Given the description of an element on the screen output the (x, y) to click on. 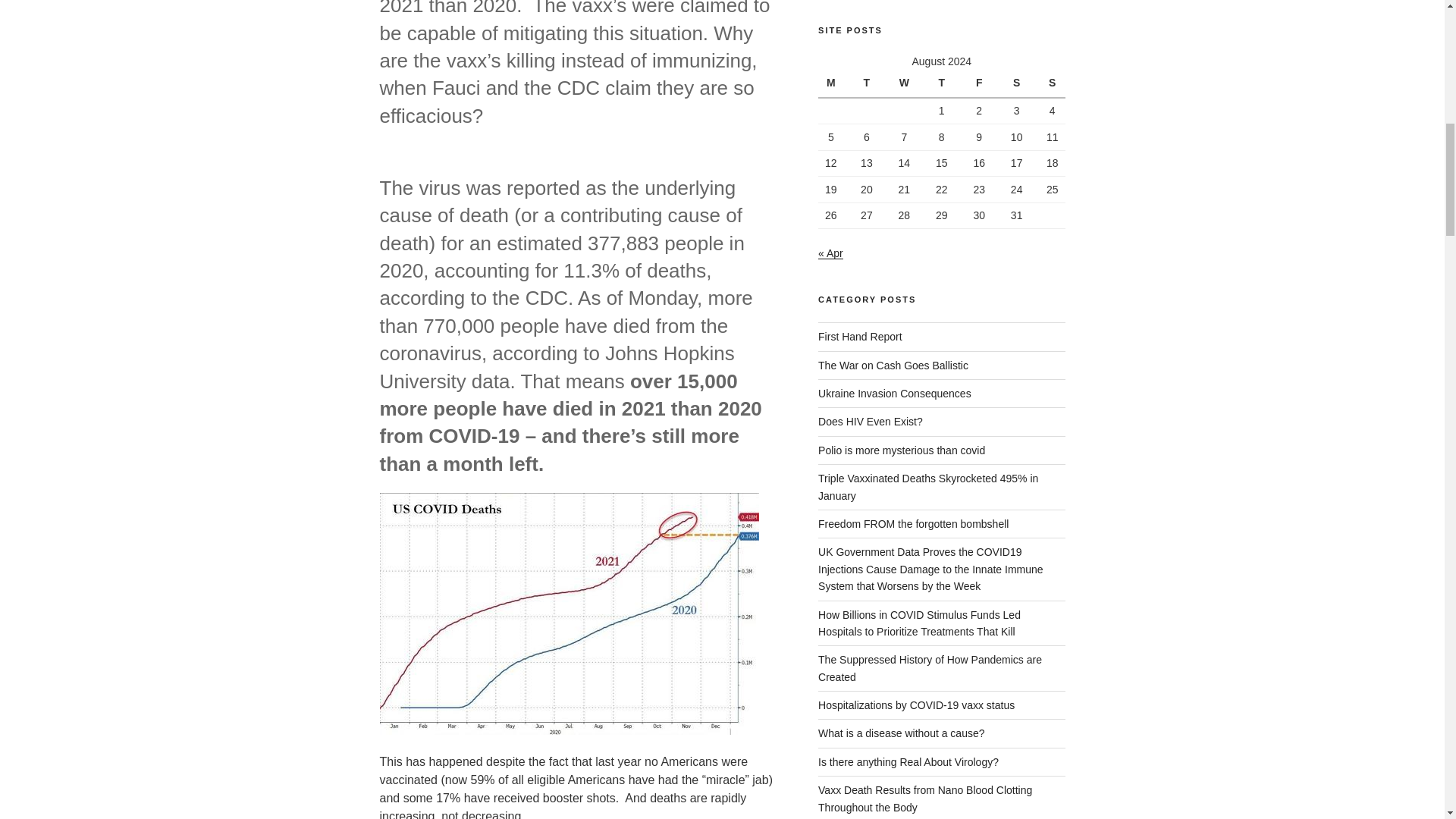
The War on Cash Goes Ballistic (893, 365)
Monday (832, 83)
Tuesday (866, 83)
Wednesday (904, 83)
Friday (978, 83)
Thursday (941, 83)
First Hand Report (859, 336)
Saturday (1016, 83)
